Given the description of an element on the screen output the (x, y) to click on. 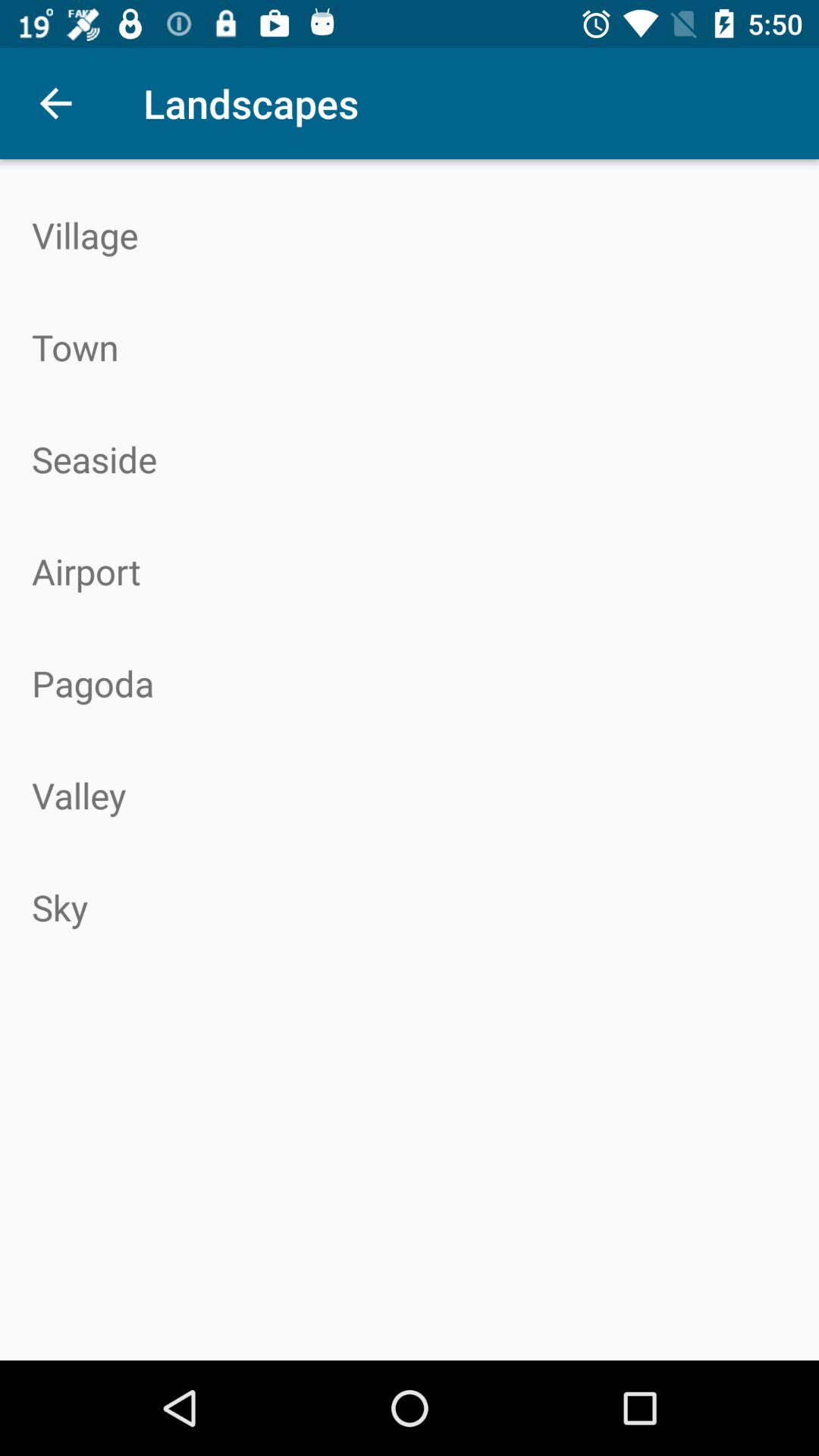
tap pagoda icon (409, 683)
